Given the description of an element on the screen output the (x, y) to click on. 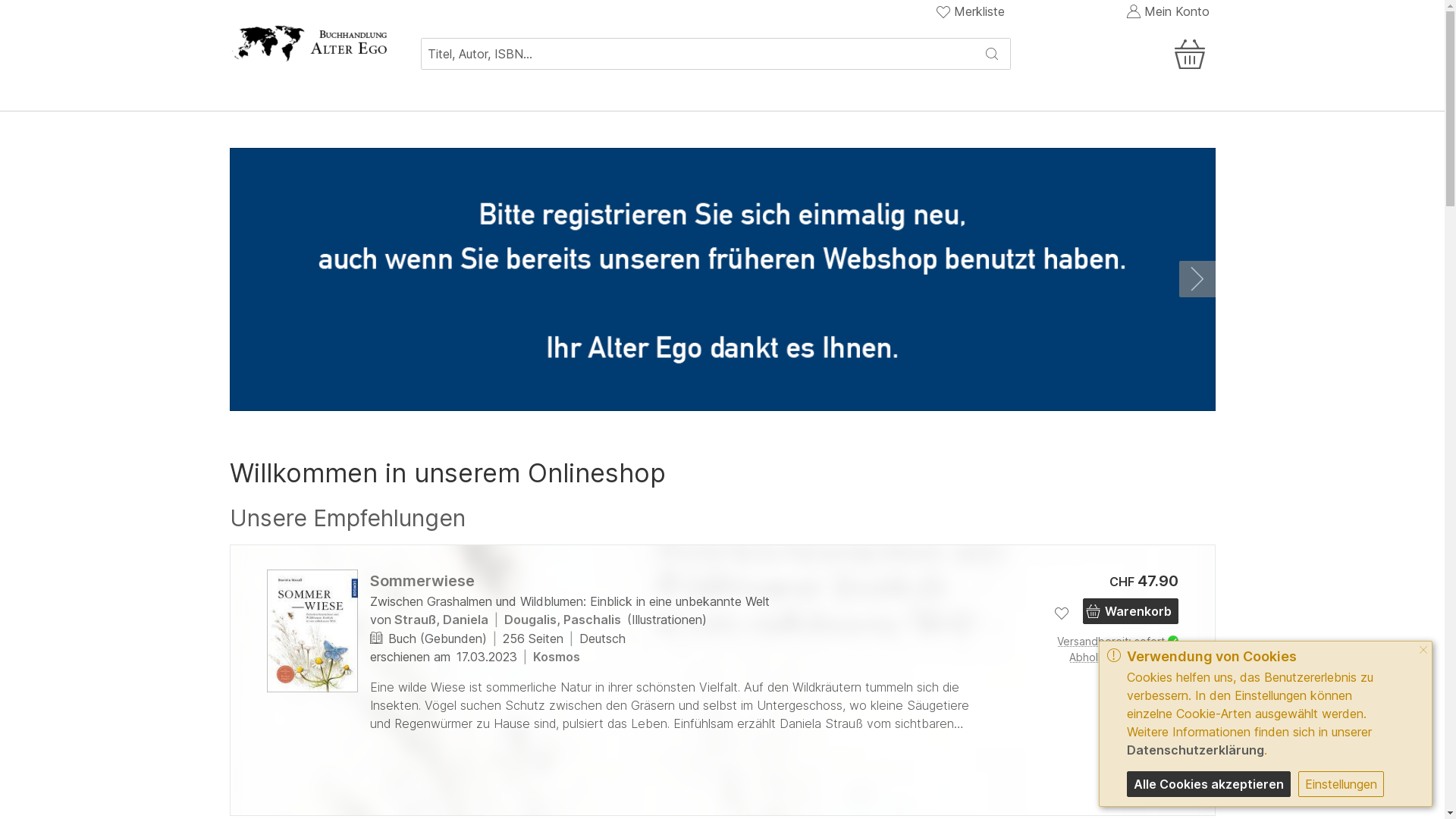
Unsere Empfehlungen Element type: text (346, 518)
Suchen Element type: hover (991, 53)
Zur Homepage Element type: hover (309, 42)
Kosmos Element type: text (555, 656)
Diesen Artikel auf die Merkliste legen Element type: hover (1062, 612)
Weiter Element type: hover (1196, 680)
Warenkorb Element type: text (1130, 611)
Versandbereit: sofort Element type: text (1093, 641)
Weiter Element type: hover (1196, 278)
Dougalis, Paschalis Element type: text (561, 619)
Abholbereit: sofort Element type: text (1093, 657)
Die Reue des Prometheus Element type: hover (1292, 637)
Zum Warenkorb Element type: hover (1192, 40)
Schliessen Element type: hover (1422, 649)
Alle Cookies akzeptieren Element type: text (1208, 784)
Einstellungen Element type: text (1340, 784)
Zum Warenkorb Element type: hover (1127, 53)
Sommerwiese Element type: text (422, 580)
Sommerwiese Element type: hover (311, 630)
Merkliste Element type: text (969, 11)
Mein Konto Element type: text (1166, 11)
